Given the description of an element on the screen output the (x, y) to click on. 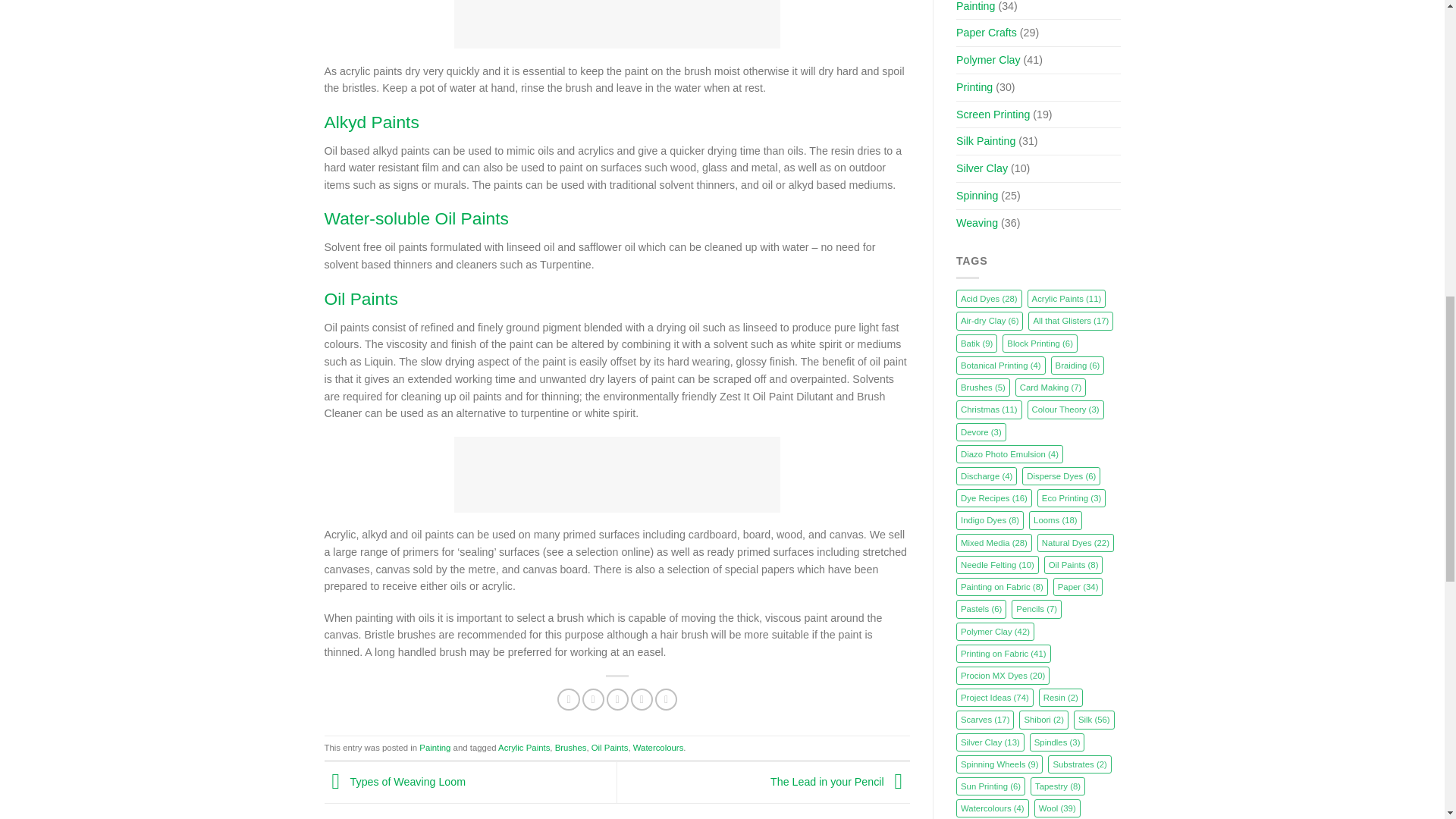
Acrylic Paint Swatches  (617, 24)
Water-Soluble Oil Paints (416, 218)
Oil Paint Swatches (617, 474)
